Given the description of an element on the screen output the (x, y) to click on. 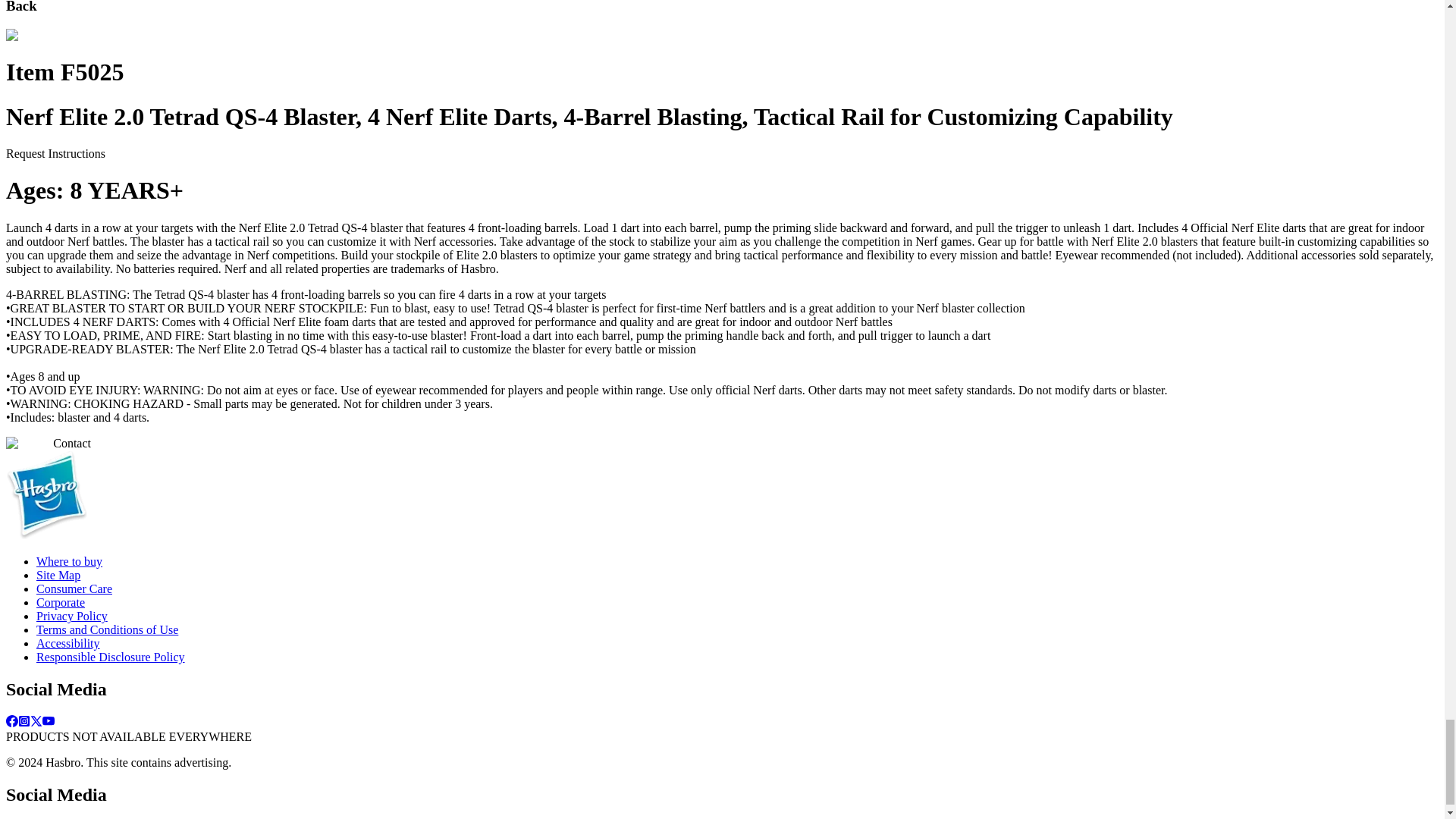
Terms and Conditions of Use (106, 629)
Where to buy (68, 561)
Corporate (60, 602)
Site Map (58, 574)
Accessibility (68, 643)
Privacy Policy (71, 615)
Consumer Care (74, 588)
Responsible Disclosure Policy (110, 656)
Request Instructions (54, 153)
